Given the description of an element on the screen output the (x, y) to click on. 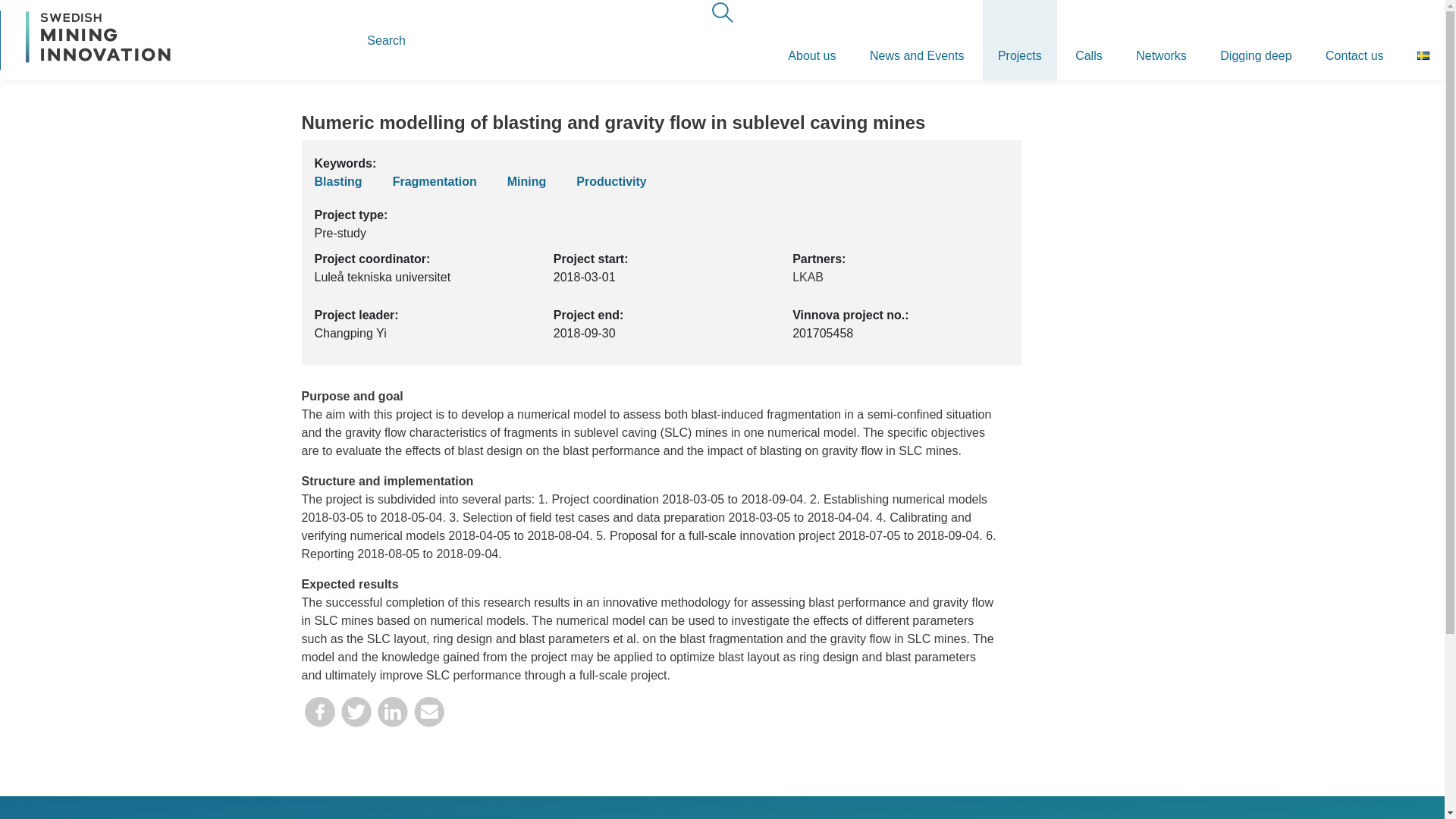
About us (811, 40)
Networks (1161, 40)
Twitter (355, 716)
News and Events (916, 40)
Digging deep (1255, 40)
Email (428, 716)
Contact us (1353, 40)
Projects (1019, 40)
